Given the description of an element on the screen output the (x, y) to click on. 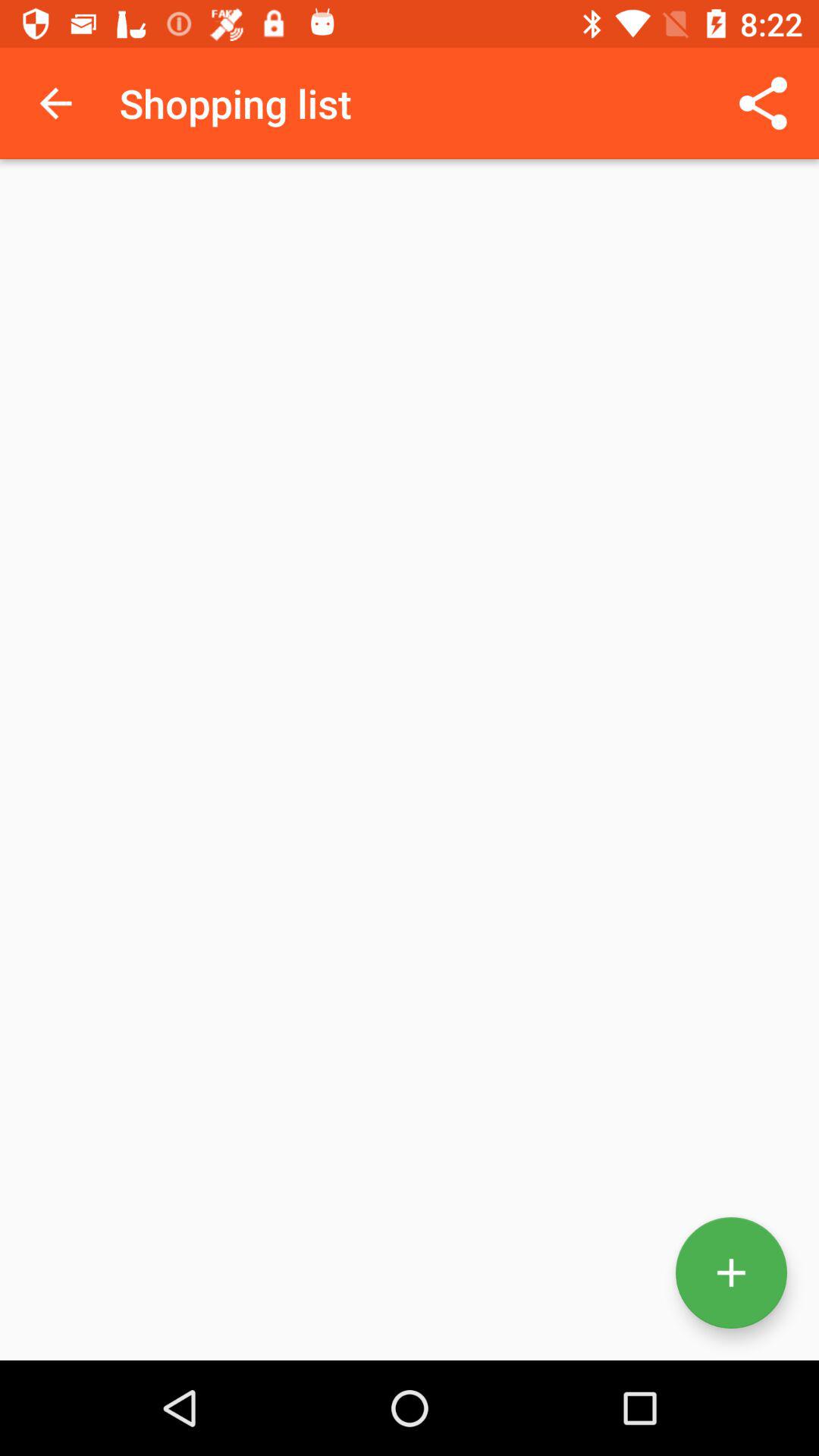
select item to the right of the shopping list item (763, 103)
